Given the description of an element on the screen output the (x, y) to click on. 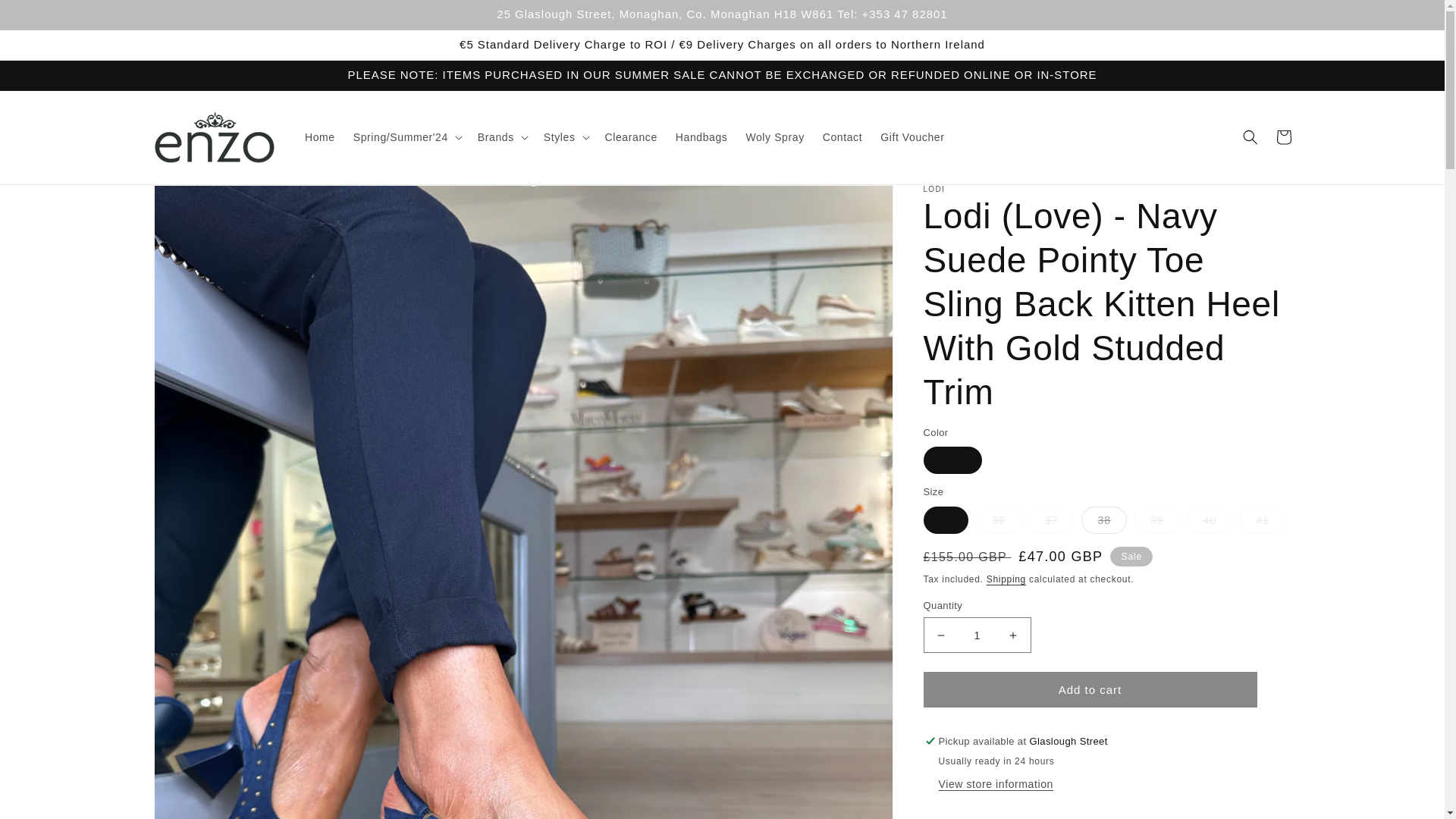
Skip to content (45, 17)
1 (976, 634)
